Given the description of an element on the screen output the (x, y) to click on. 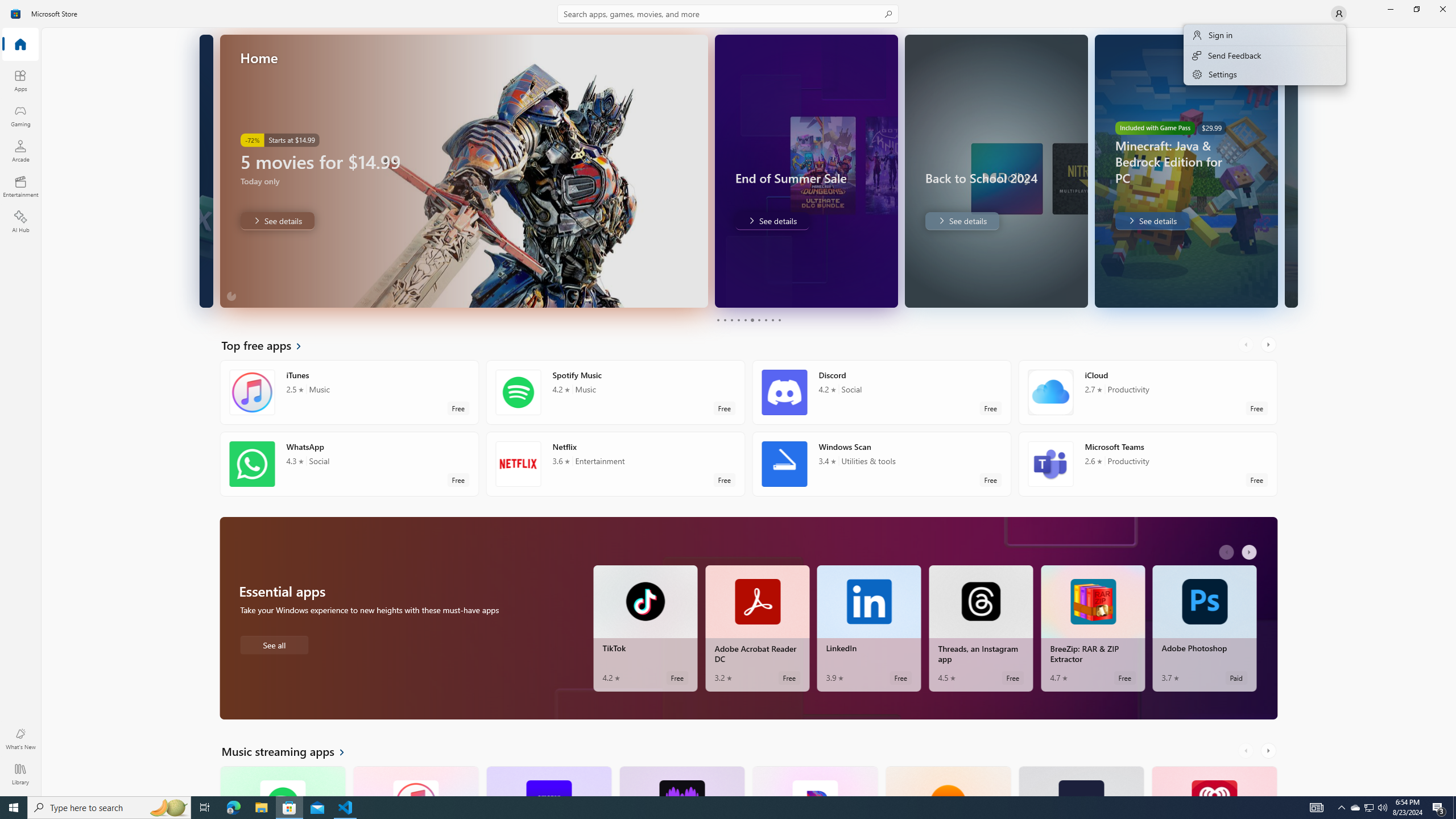
Pager (748, 319)
Page 2 (724, 319)
Page 10 (779, 319)
LinkedIn. Average rating of 3.9 out of five stars. Free   (868, 628)
iCloud. Average rating of 2.7 out of five stars. Free   (1146, 392)
TikTok. Average rating of 4.2 out of five stars. Free   (644, 628)
Search (727, 13)
See all  Music streaming apps (289, 750)
